Given the description of an element on the screen output the (x, y) to click on. 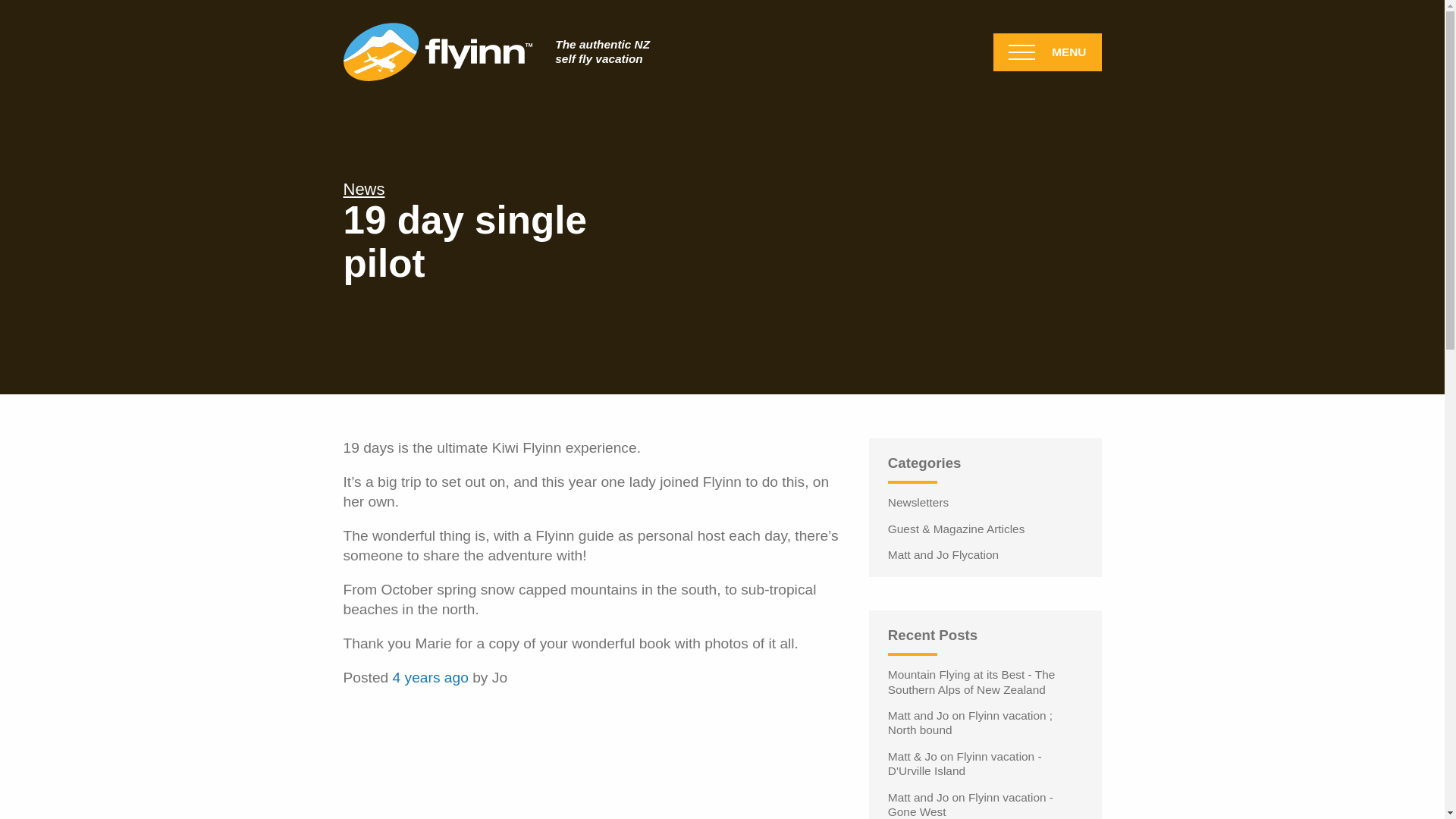
Flyinn (495, 51)
Matt and Jo Flycation (985, 554)
Date (430, 677)
Matt and Jo on Flyinn vacation ; North bound (985, 722)
4 years ago (430, 677)
Matt and Jo Flycation (985, 554)
Matt and Jo on Flyinn vacation ; North bound (985, 722)
Newsletters (985, 502)
Newsletters (985, 502)
